Given the description of an element on the screen output the (x, y) to click on. 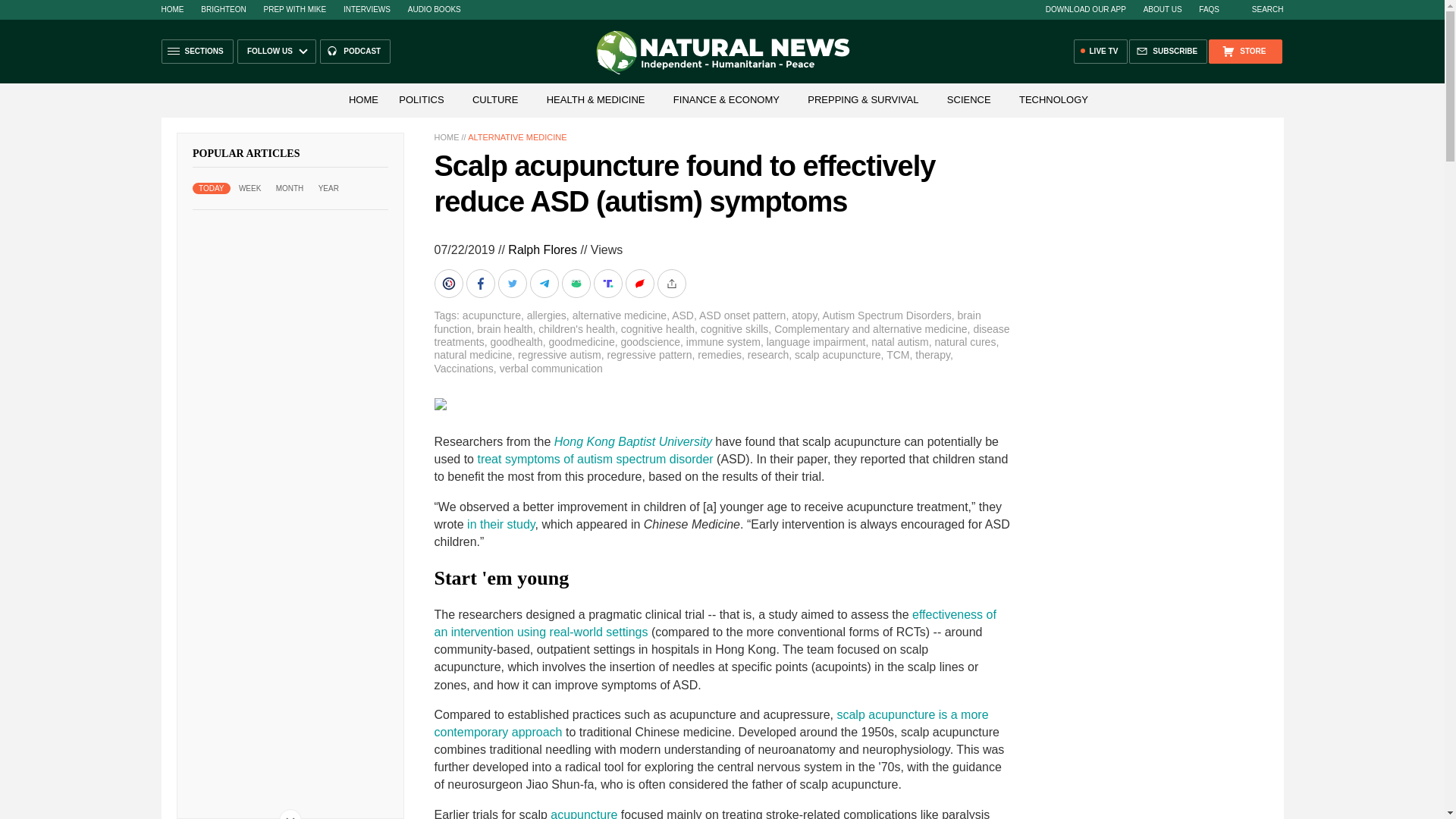
HOME (363, 99)
ALTERNATIVE MEDICINE (516, 136)
DOWNLOAD OUR APP (1085, 8)
Share on Telegram (544, 283)
SUBSCRIBE (1168, 51)
Scroll Down (290, 814)
FAQS (1209, 8)
Share on Gettr (640, 283)
HOME (171, 8)
Share on Brighteon.Social (449, 283)
